Given the description of an element on the screen output the (x, y) to click on. 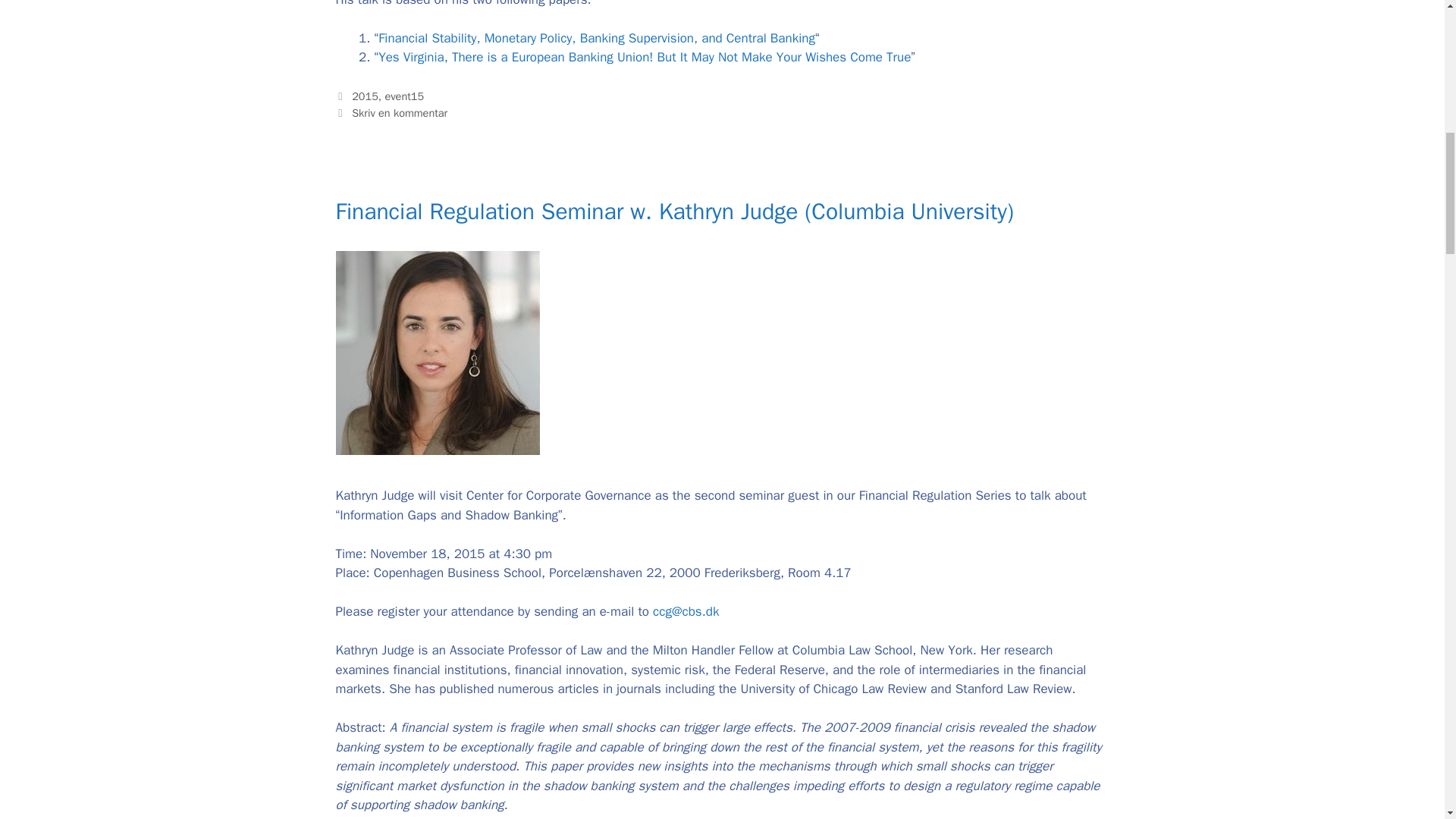
2015 (365, 96)
Skriv en kommentar (399, 112)
event15 (403, 96)
